Given the description of an element on the screen output the (x, y) to click on. 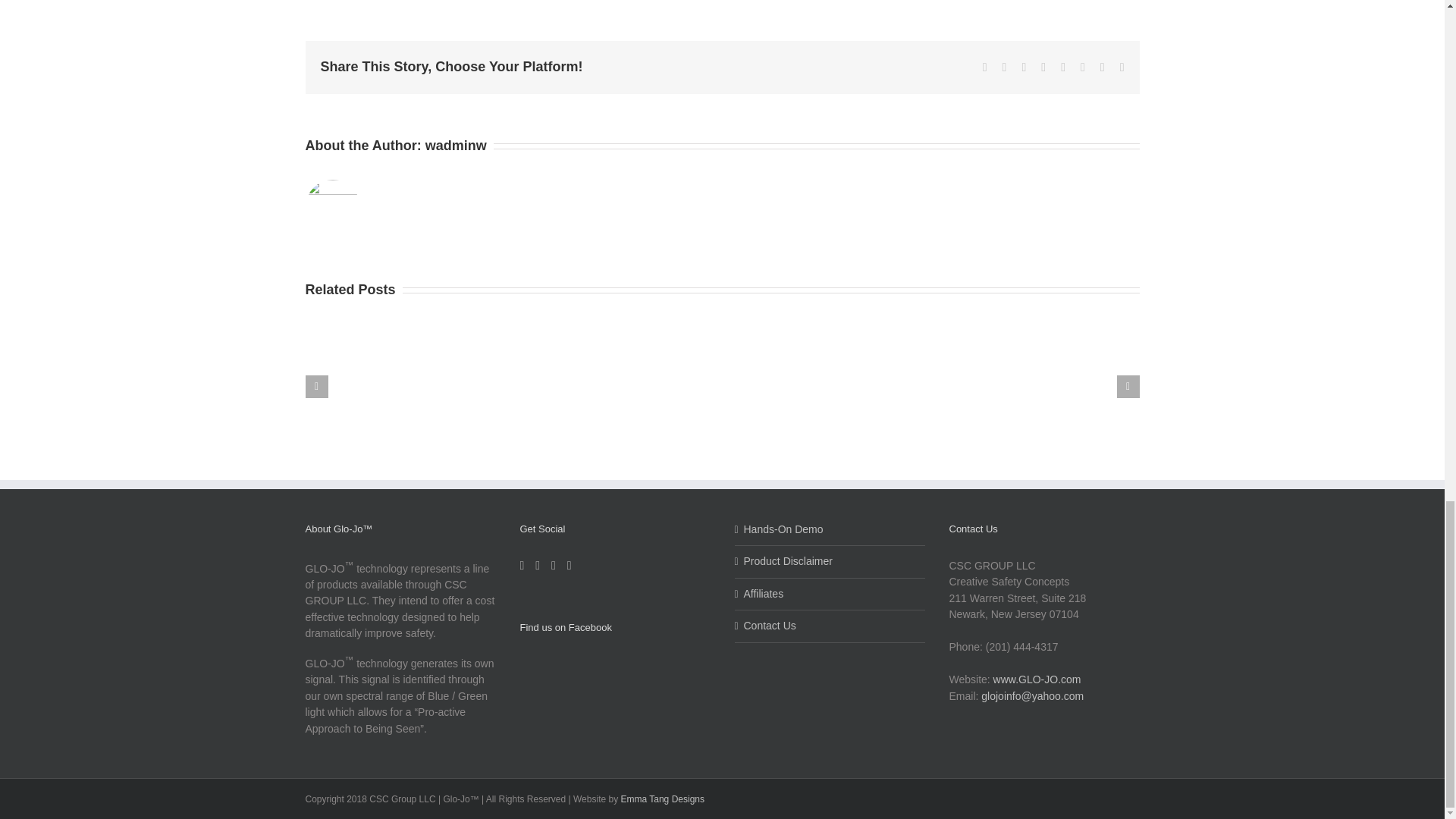
Posts by wadminw (455, 145)
